Given the description of an element on the screen output the (x, y) to click on. 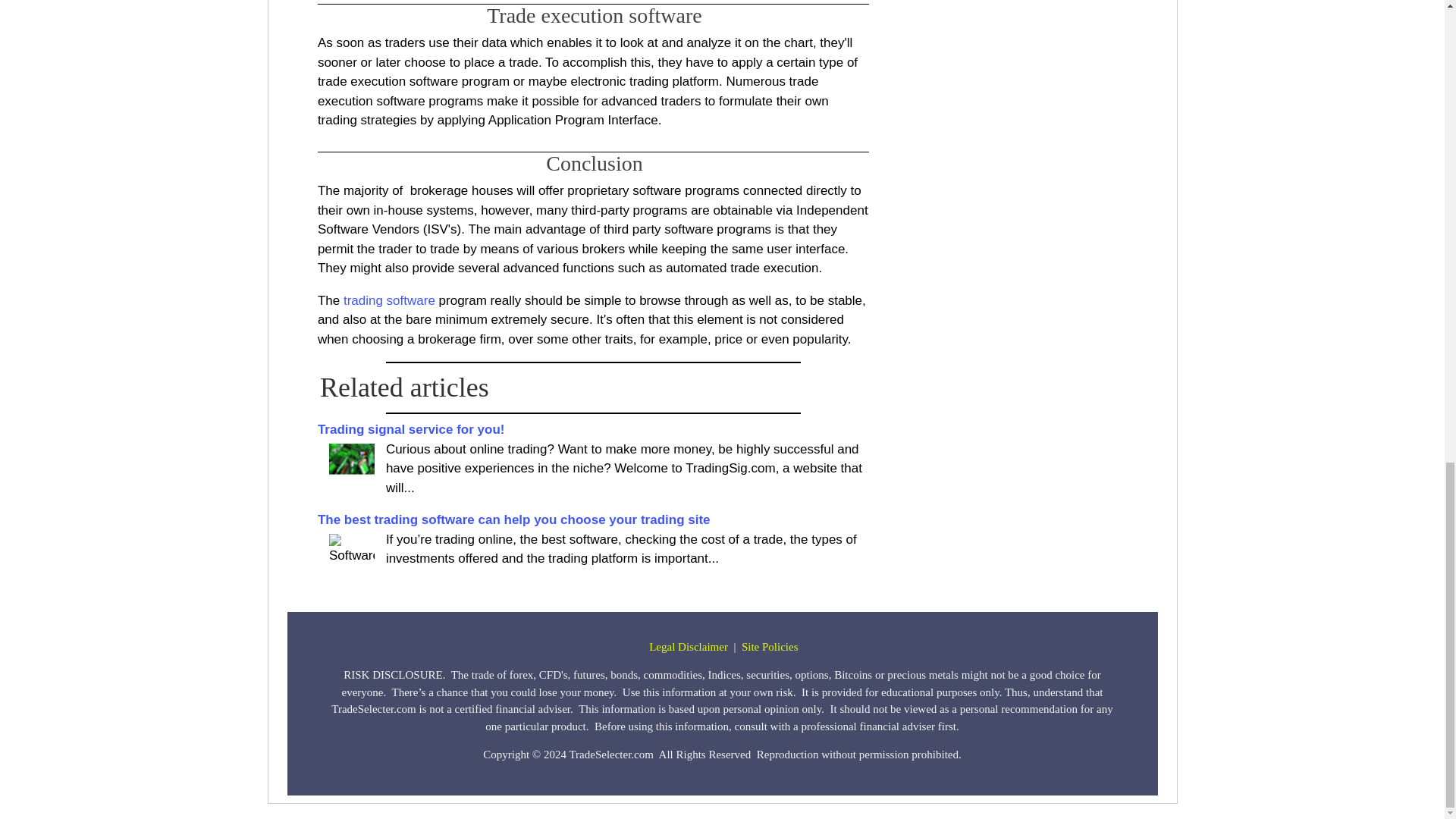
trading software (389, 300)
Software (351, 550)
Trading (351, 460)
